Given the description of an element on the screen output the (x, y) to click on. 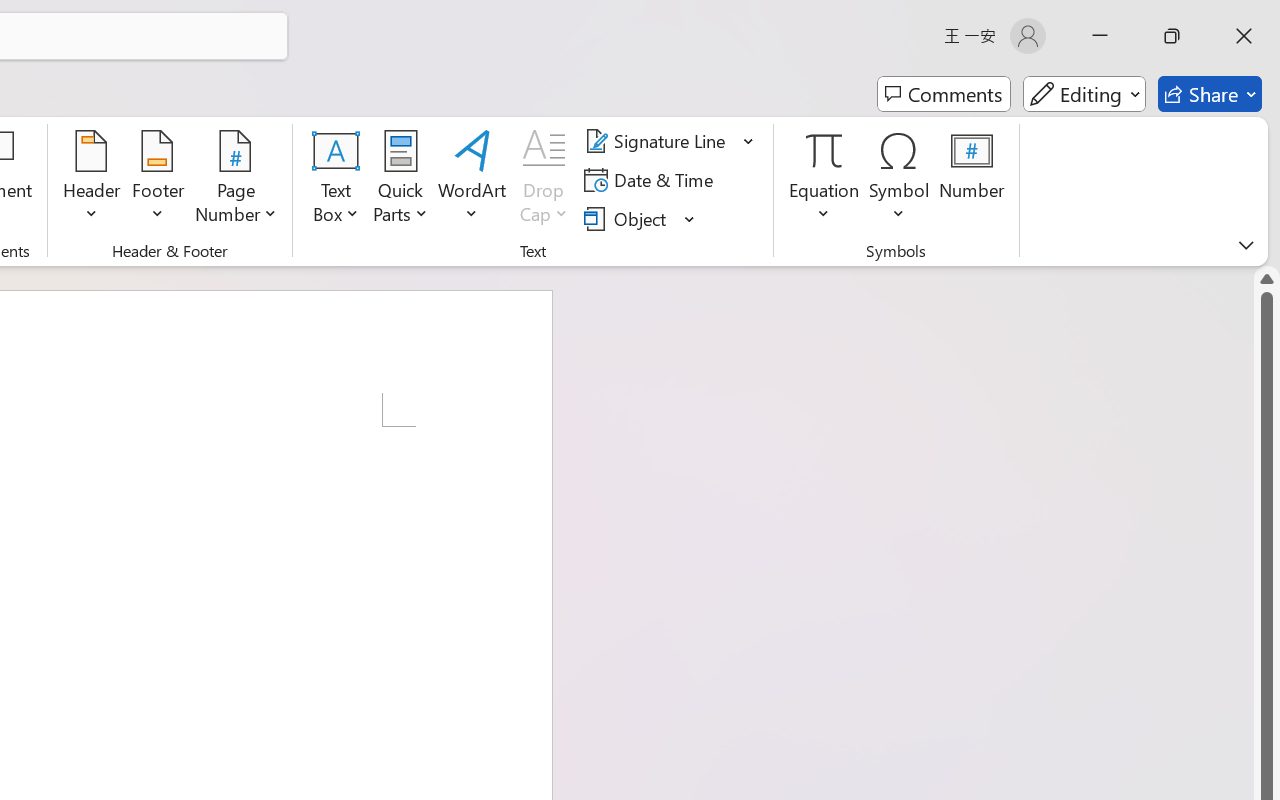
Line up (1267, 278)
Drop Cap (543, 179)
Number... (971, 179)
Footer (157, 179)
Object... (628, 218)
Equation (823, 150)
Quick Parts (400, 179)
WordArt (472, 179)
Page Number (236, 179)
Signature Line (658, 141)
Symbol (899, 179)
